Given the description of an element on the screen output the (x, y) to click on. 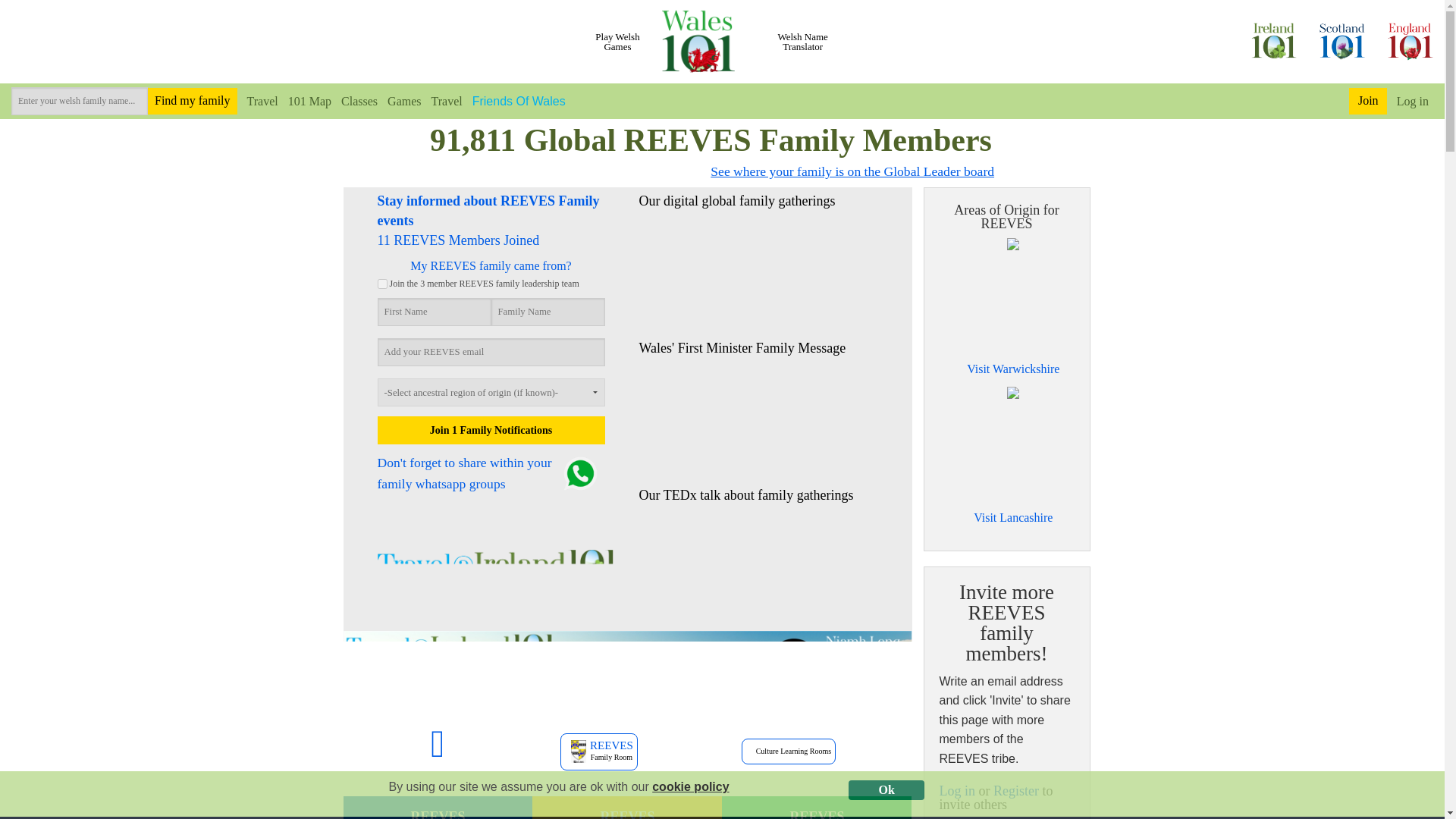
Welsh Name Translator (803, 41)
1 (382, 284)
101 Map (304, 100)
Find my family (192, 101)
Travel (257, 100)
Join 1 Family Notifications (491, 430)
Classes (354, 100)
